Given the description of an element on the screen output the (x, y) to click on. 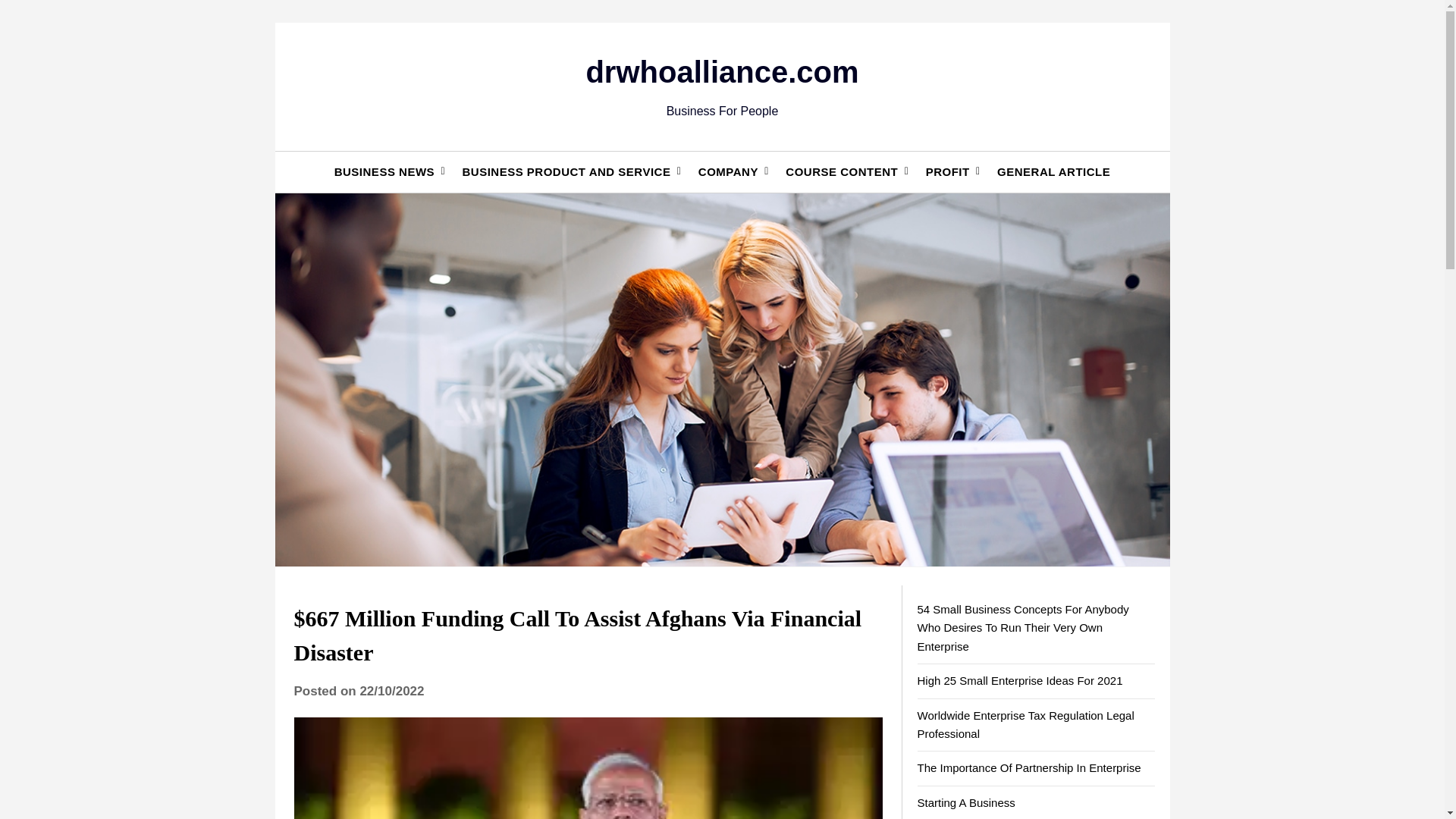
Worldwide Enterprise Tax Regulation Legal Professional (1025, 724)
COURSE CONTENT (841, 171)
BUSINESS PRODUCT AND SERVICE (565, 171)
Starting A Business (965, 802)
The Importance Of Partnership In Enterprise (1029, 767)
PROFIT (947, 171)
COMPANY (727, 171)
BUSINESS NEWS (383, 171)
GENERAL ARTICLE (1053, 171)
